Given the description of an element on the screen output the (x, y) to click on. 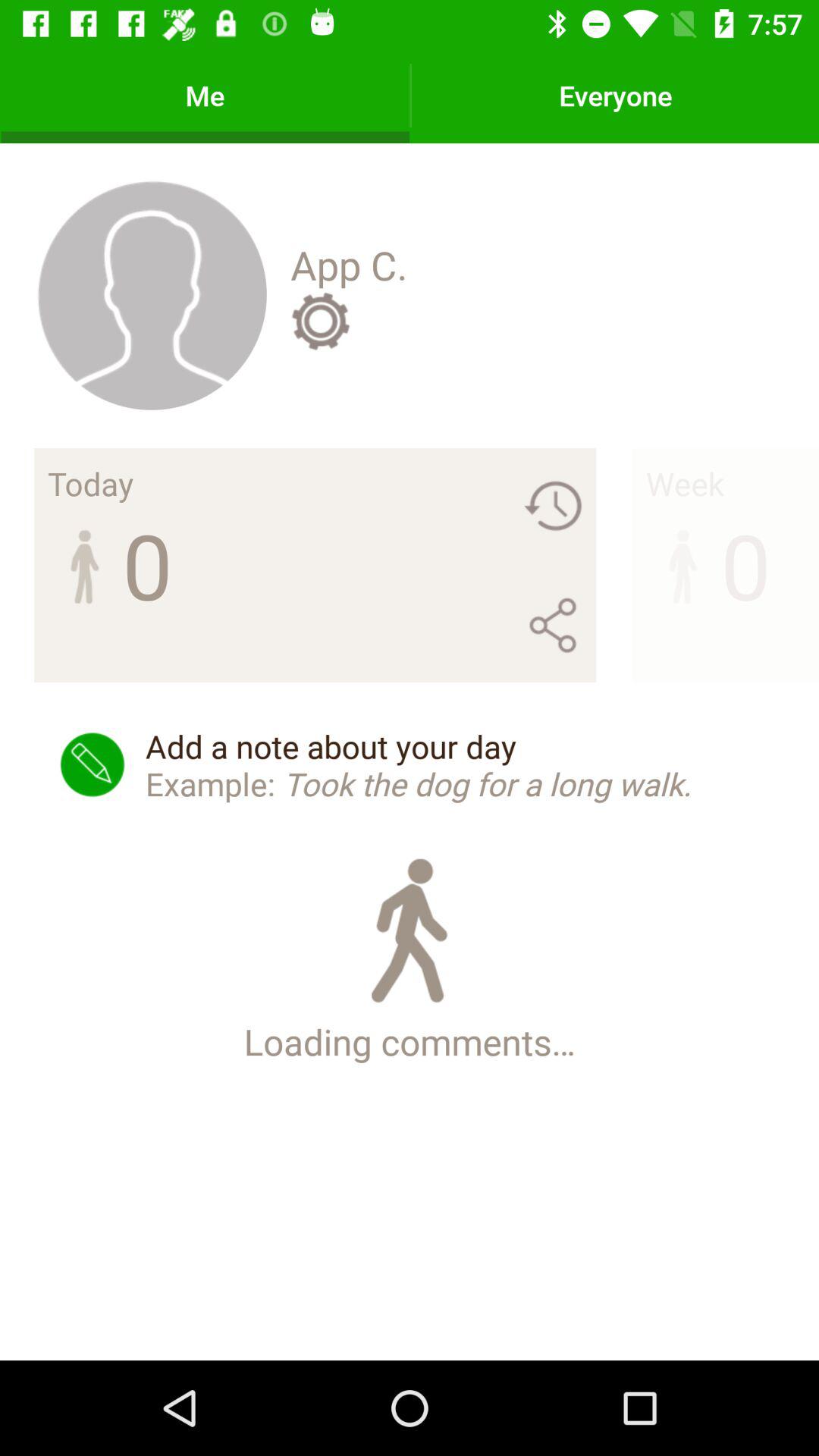
turn on item below the me item (150, 294)
